Given the description of an element on the screen output the (x, y) to click on. 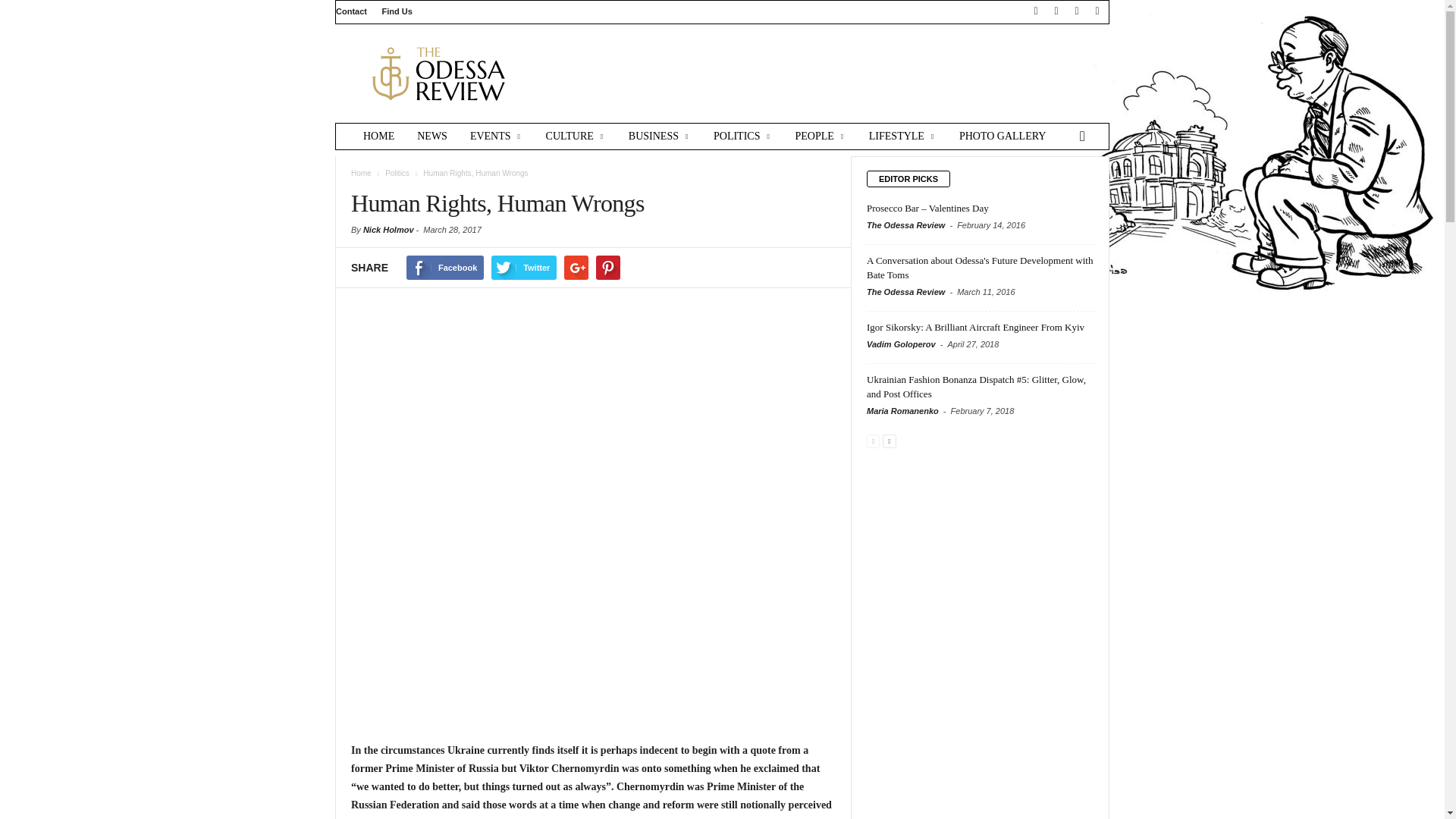
Contact (351, 10)
The Odessa Review Magazine (438, 73)
NEWS (432, 136)
Youtube (1096, 11)
EVENTS (496, 136)
Facebook (1035, 11)
Twitter (1076, 11)
Find Us (396, 10)
Instagram (1055, 11)
HOME (379, 136)
